Given the description of an element on the screen output the (x, y) to click on. 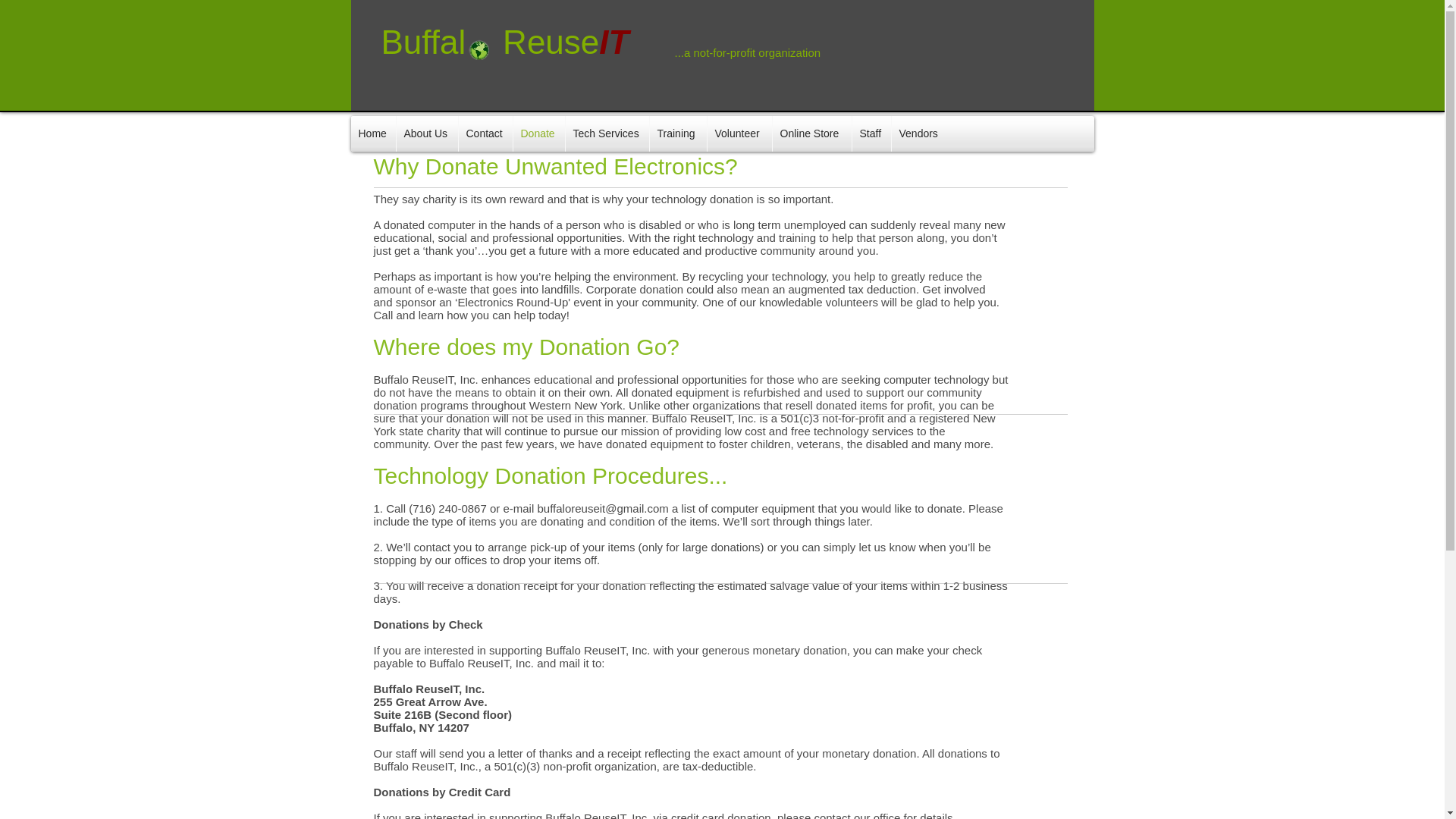
Donate (538, 133)
Staff (871, 133)
Home (372, 133)
Contact (485, 133)
Online Store (810, 133)
Tech Services (607, 133)
Training (677, 133)
Green Globe (478, 49)
Volunteer (738, 133)
About Us (426, 133)
